Given the description of an element on the screen output the (x, y) to click on. 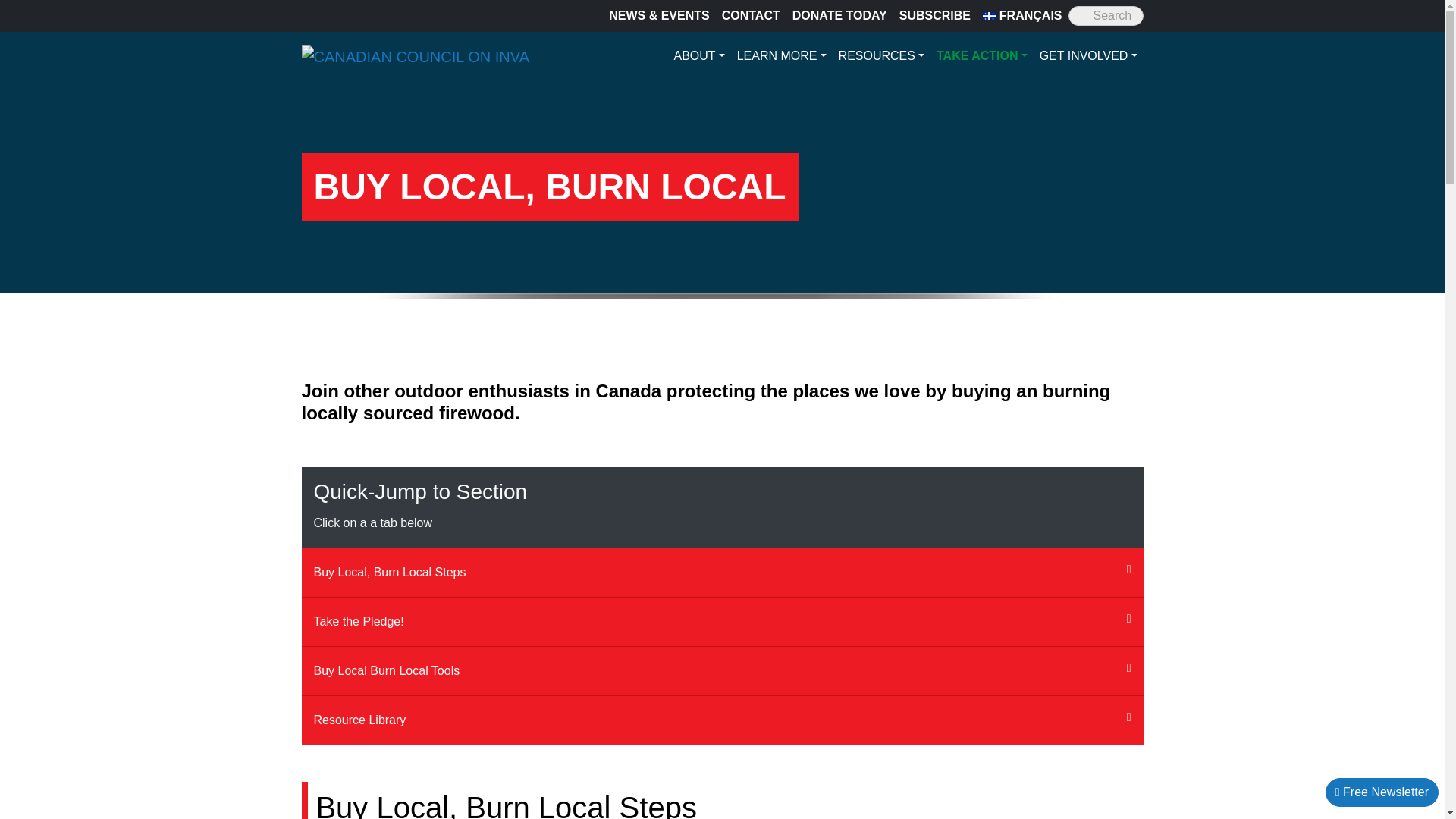
Donate Today (839, 15)
Subscribe (934, 15)
DONATE TODAY (839, 15)
LEARN MORE (781, 55)
Contact (751, 15)
GET INVOLVED (1087, 55)
ABOUT (698, 55)
RESOURCES (881, 55)
TAKE ACTION (981, 55)
SUBSCRIBE (934, 15)
